Given the description of an element on the screen output the (x, y) to click on. 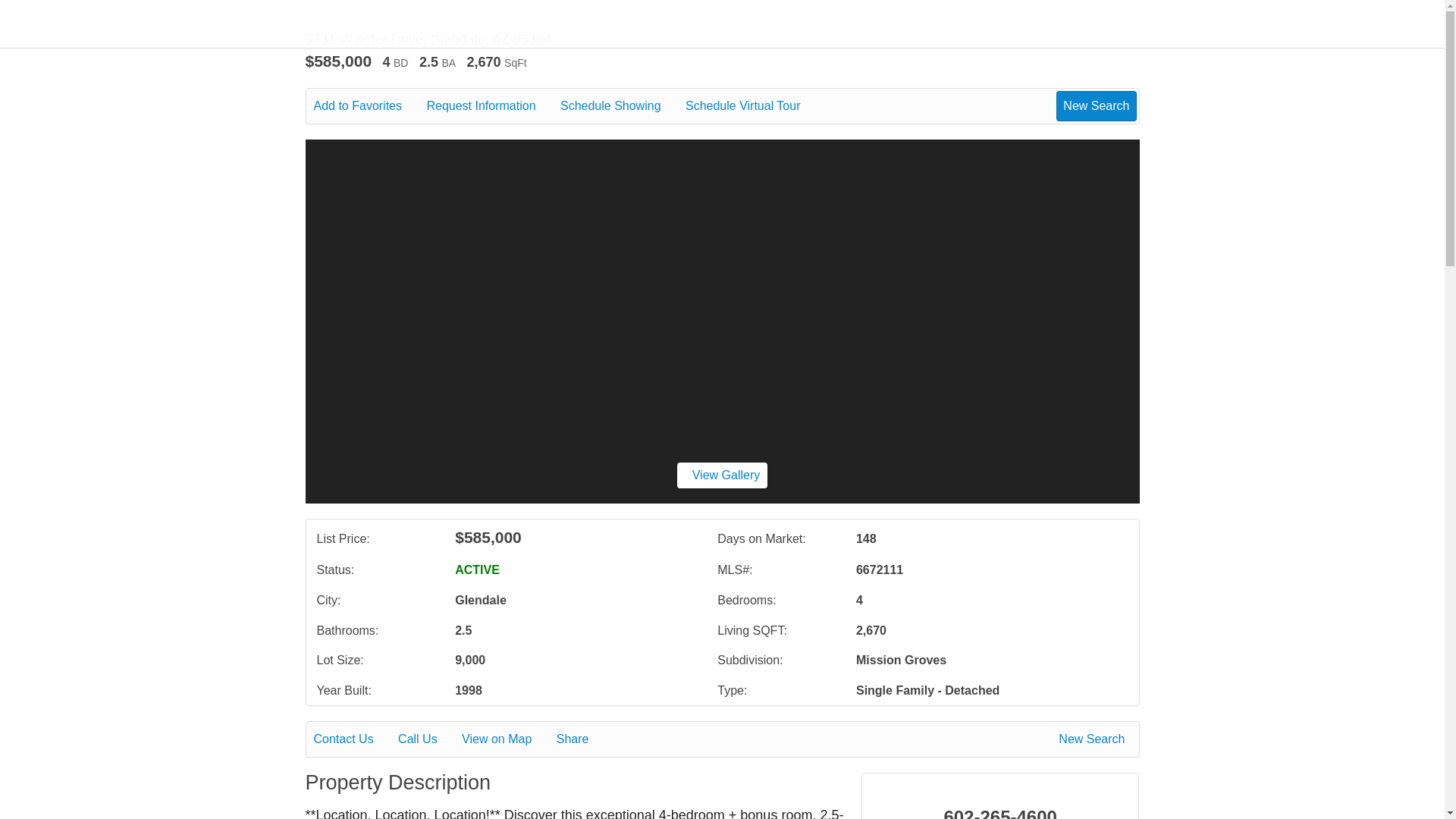
View Gallery (722, 474)
Request Information (491, 106)
Contact Us (354, 739)
Schedule Showing (621, 106)
New Search (1096, 105)
Schedule Virtual Tour (753, 106)
View Gallery (722, 475)
Call Us (427, 739)
Share (583, 739)
Add to Favorites (368, 106)
View on Map (507, 739)
New Search (1094, 739)
